Given the description of an element on the screen output the (x, y) to click on. 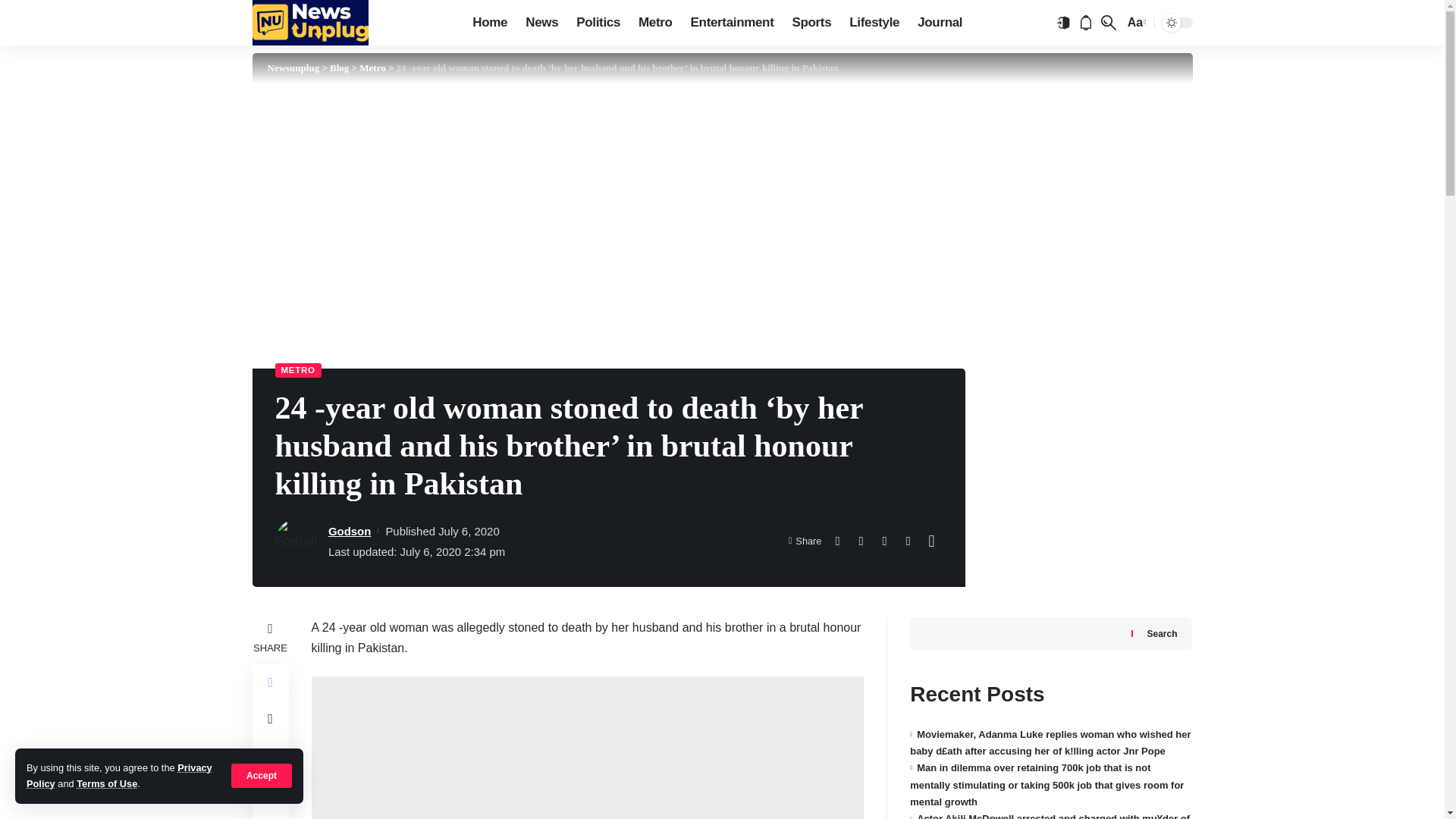
Metro (654, 22)
Go to the Metro Category archives. (372, 67)
Accept (261, 775)
News (541, 22)
Aa (1135, 22)
Politics (597, 22)
Home (489, 22)
Sports (811, 22)
Go to Blog. (339, 67)
Entertainment (732, 22)
